Given the description of an element on the screen output the (x, y) to click on. 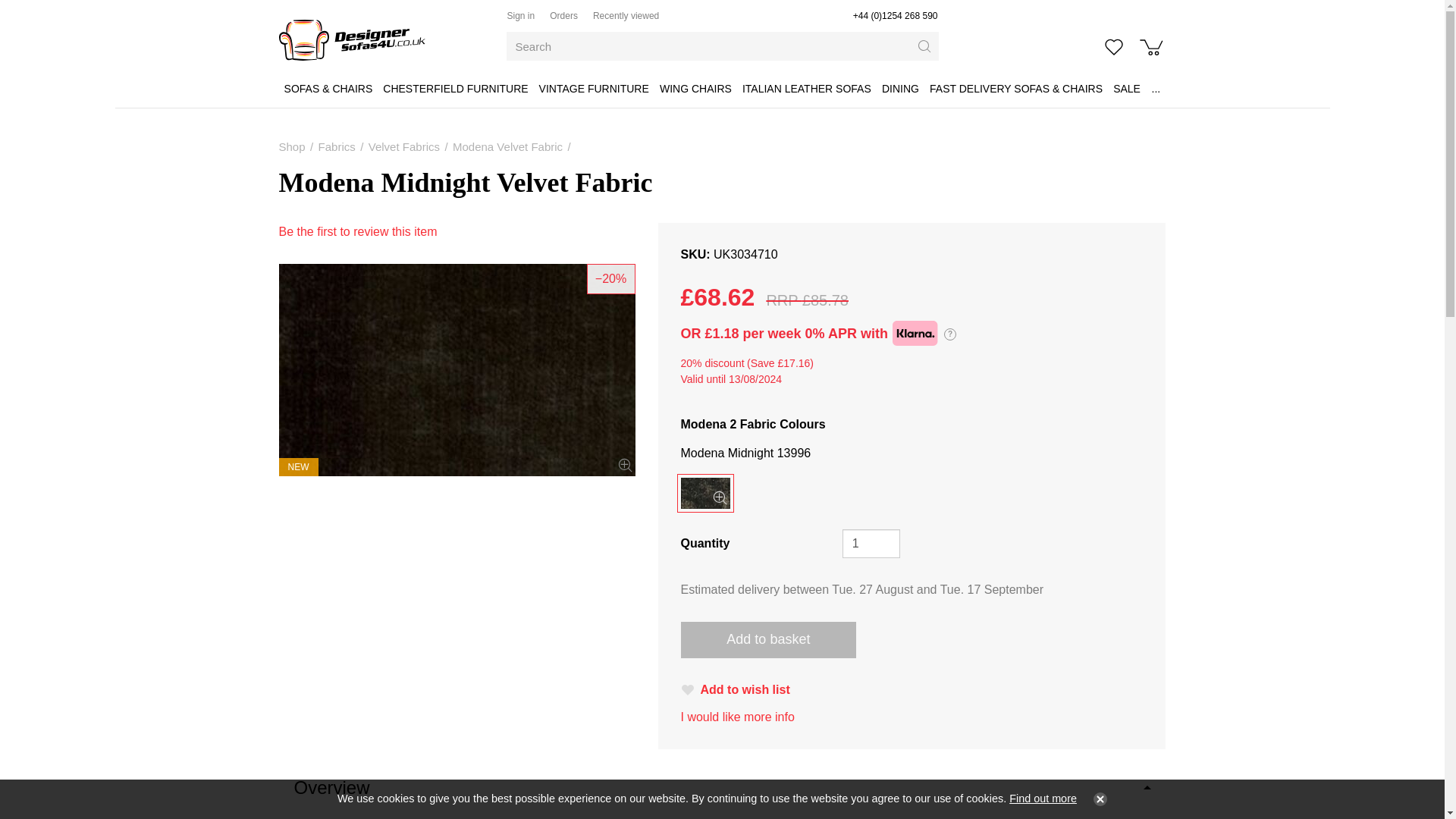
Modena Midnight (456, 369)
Sign in (520, 15)
Deposit calculator (949, 334)
Order tracking (564, 15)
Recently viewed (625, 15)
Recently viewed products (625, 15)
1 (872, 543)
